Given the description of an element on the screen output the (x, y) to click on. 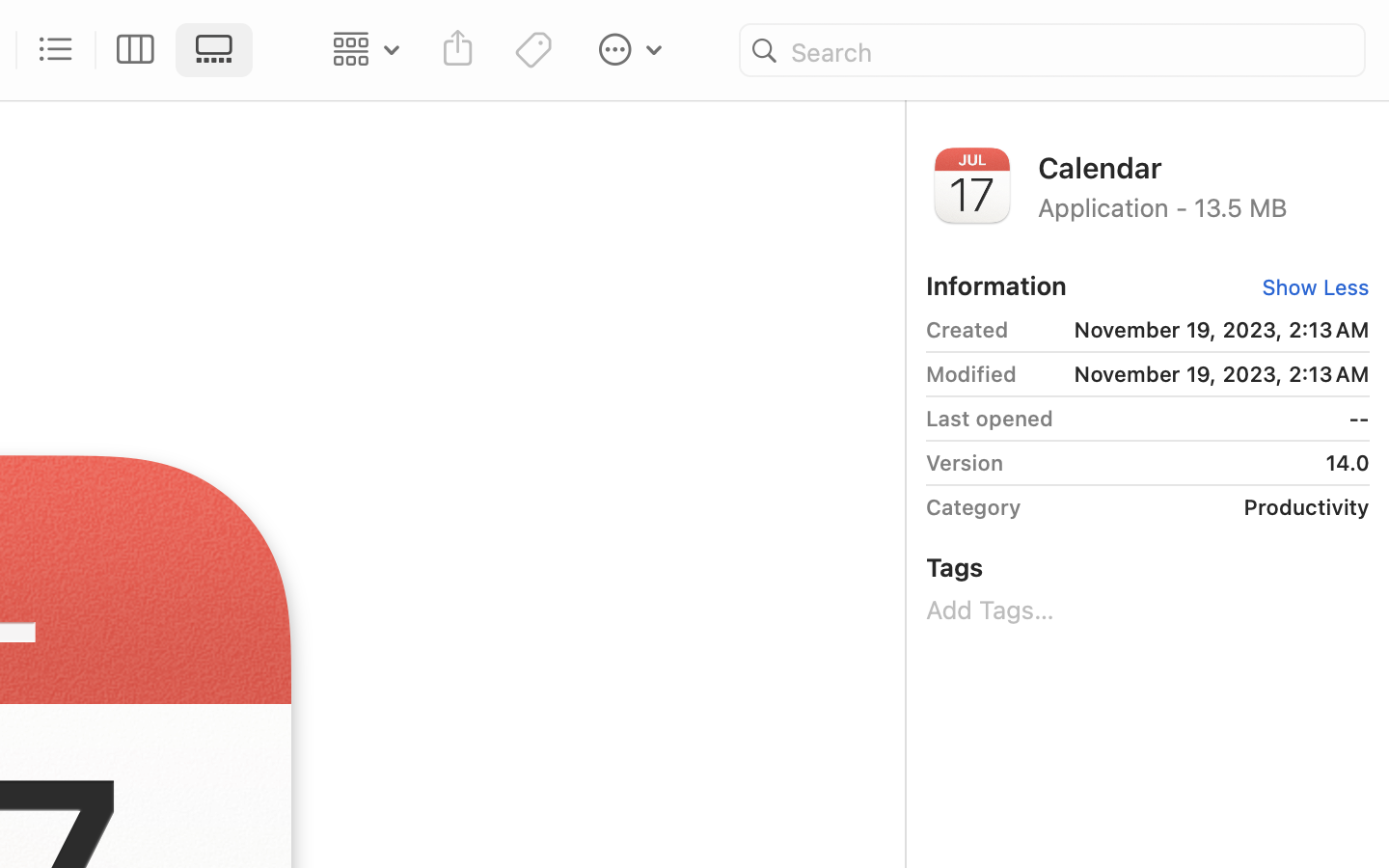
1 Element type: AXRadioButton (219, 49)
November 19, 2023, 2:13 AM Element type: AXStaticText (1196, 329)
1 Element type: AXCheckBox (1308, 286)
0 Element type: AXRadioButton (56, 49)
Information Element type: AXStaticText (996, 285)
